Given the description of an element on the screen output the (x, y) to click on. 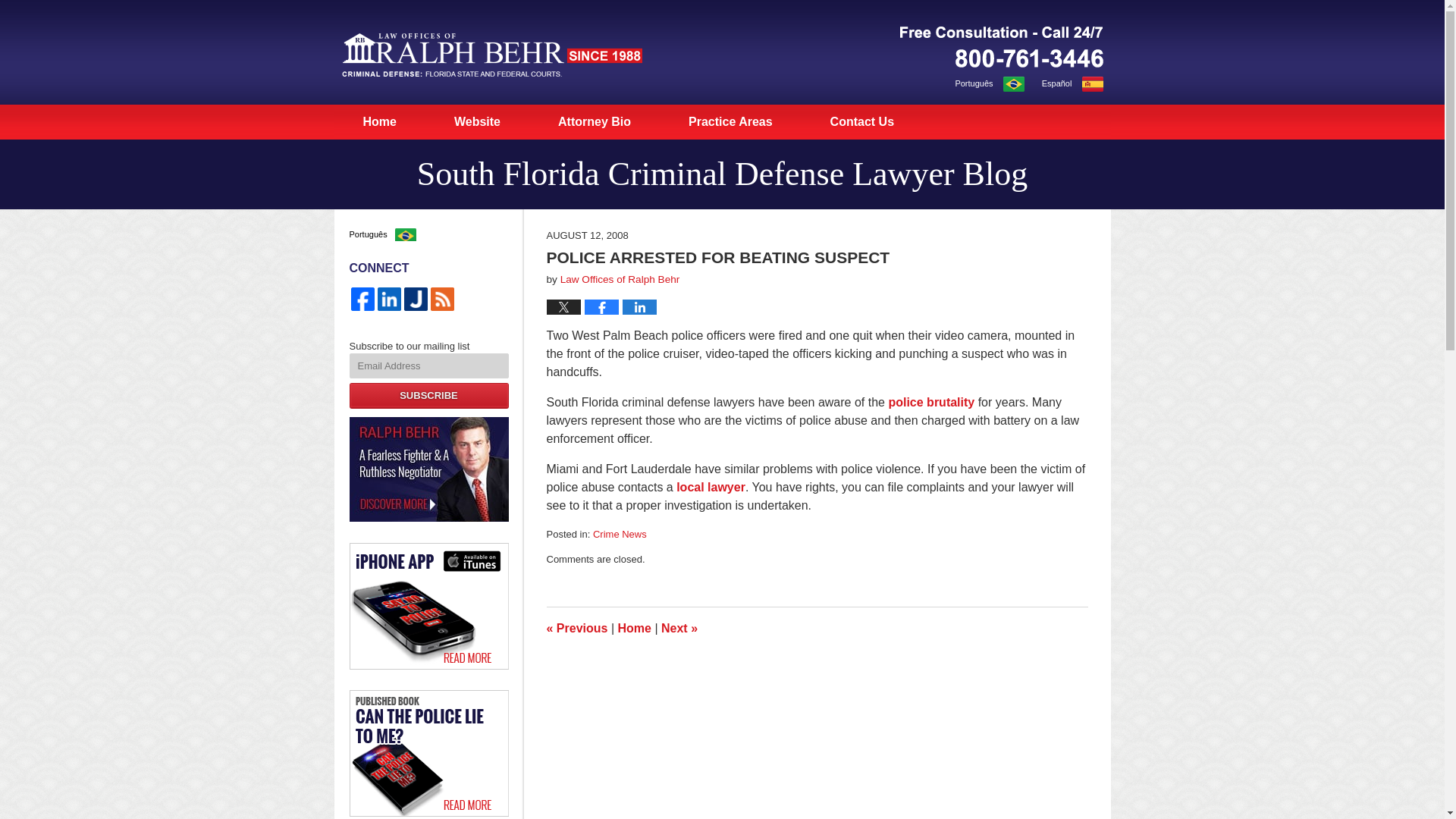
police brutality (931, 401)
Law Offices of Ralph Behr (428, 468)
Website (477, 121)
Home (379, 121)
South Florida Criminal Defense Lawyer Blog (721, 174)
LinkedIn (389, 298)
SUBSCRIBE (428, 395)
Law Offices of Ralph Behr (619, 279)
Attorney Bio (594, 121)
Home (633, 627)
Practice Areas (730, 121)
Do the Police Need a Warrant to Make an Arrest? (576, 627)
US Supreme Court  Extends 4th Rights (679, 627)
Feed (442, 298)
Crime News (619, 533)
